Given the description of an element on the screen output the (x, y) to click on. 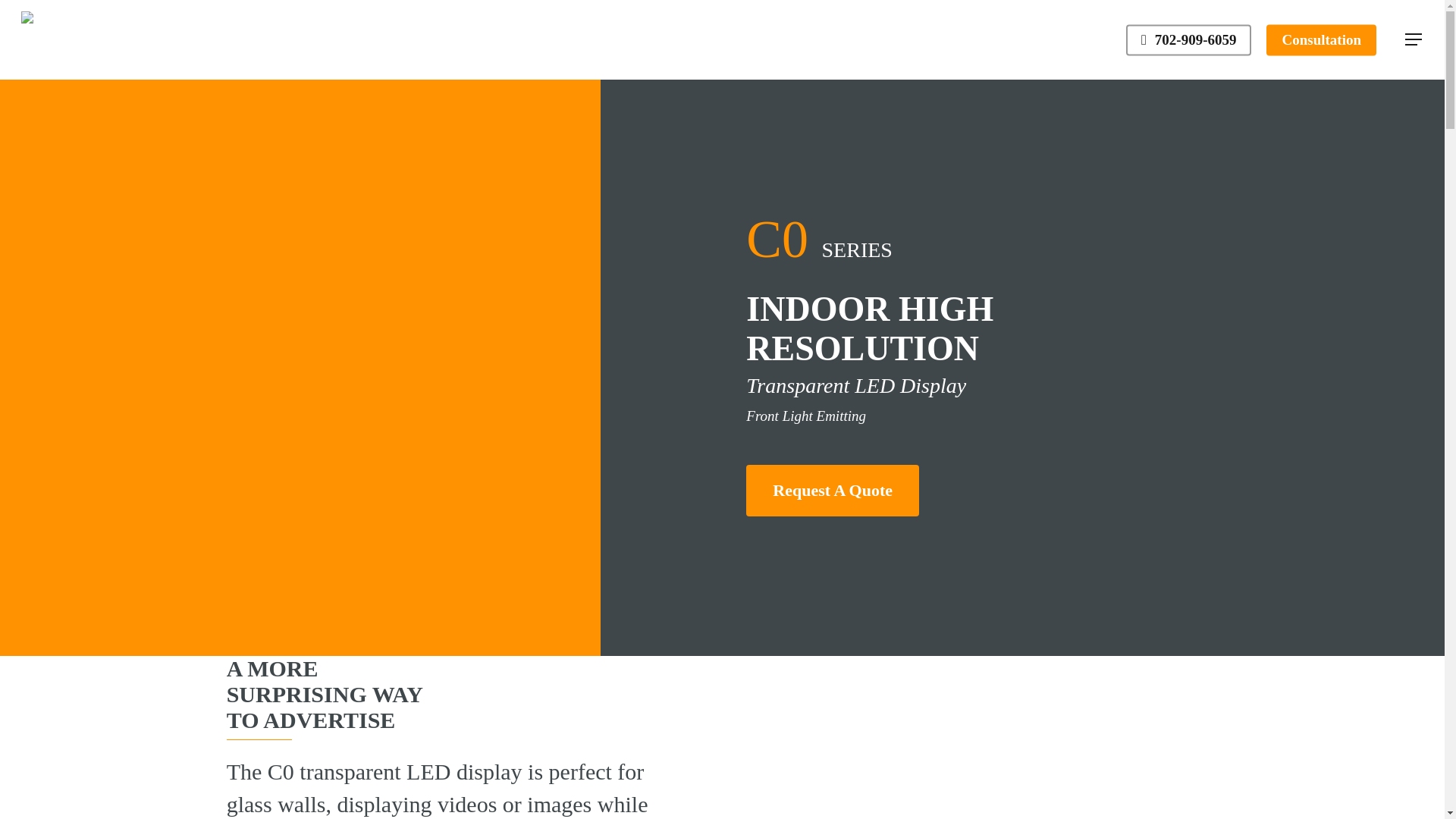
702-909-6059 (1187, 39)
Request A Quote (831, 490)
Menu (1414, 39)
Consultation (1320, 39)
